Given the description of an element on the screen output the (x, y) to click on. 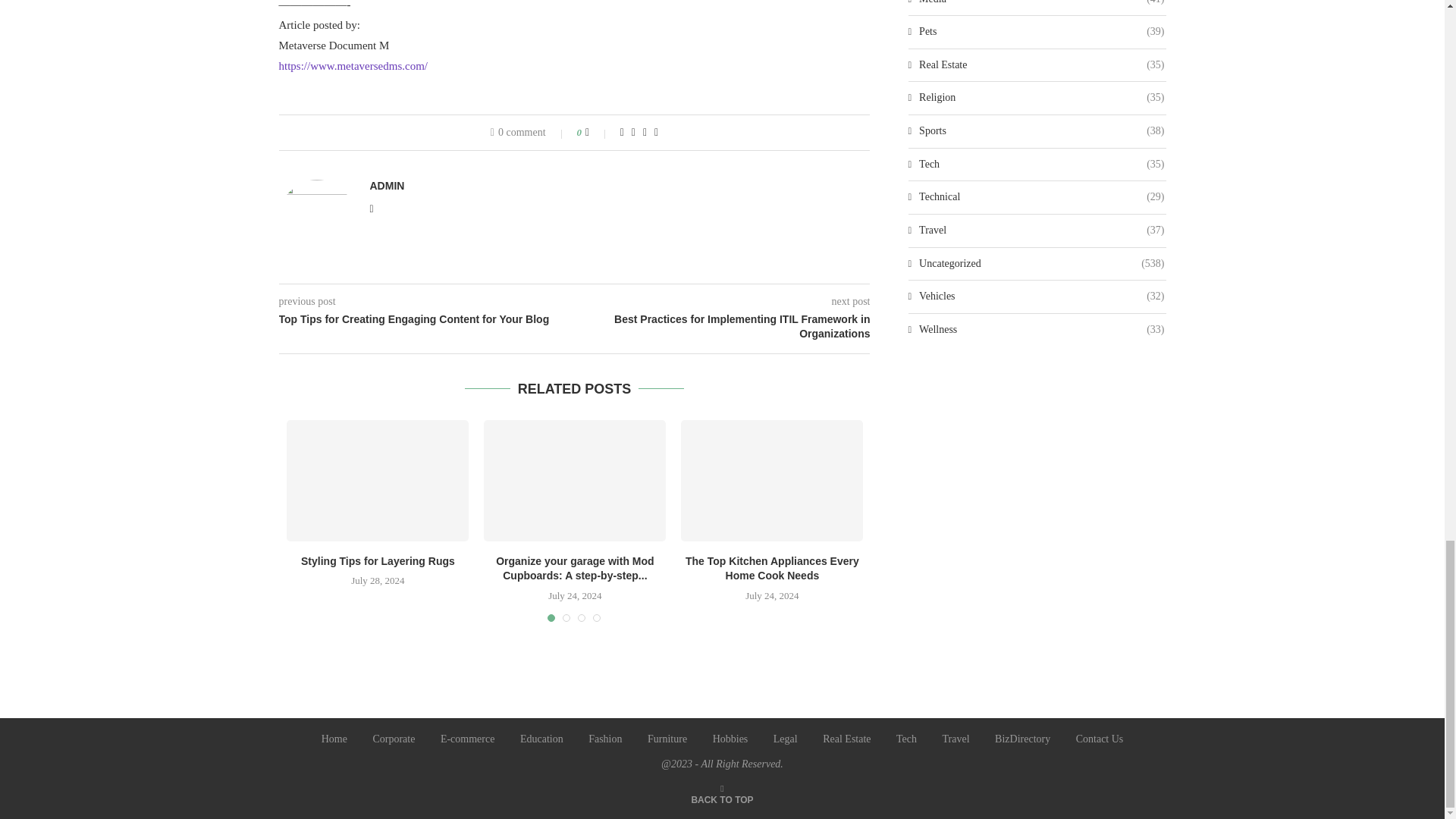
Styling Tips for Layering Rugs (377, 480)
Author admin (386, 185)
The Top Kitchen Appliances Every Home Cook Needs (772, 480)
ADMIN (386, 185)
Like (597, 132)
Top Tips for Creating Engaging Content for Your Blog (427, 319)
